Given the description of an element on the screen output the (x, y) to click on. 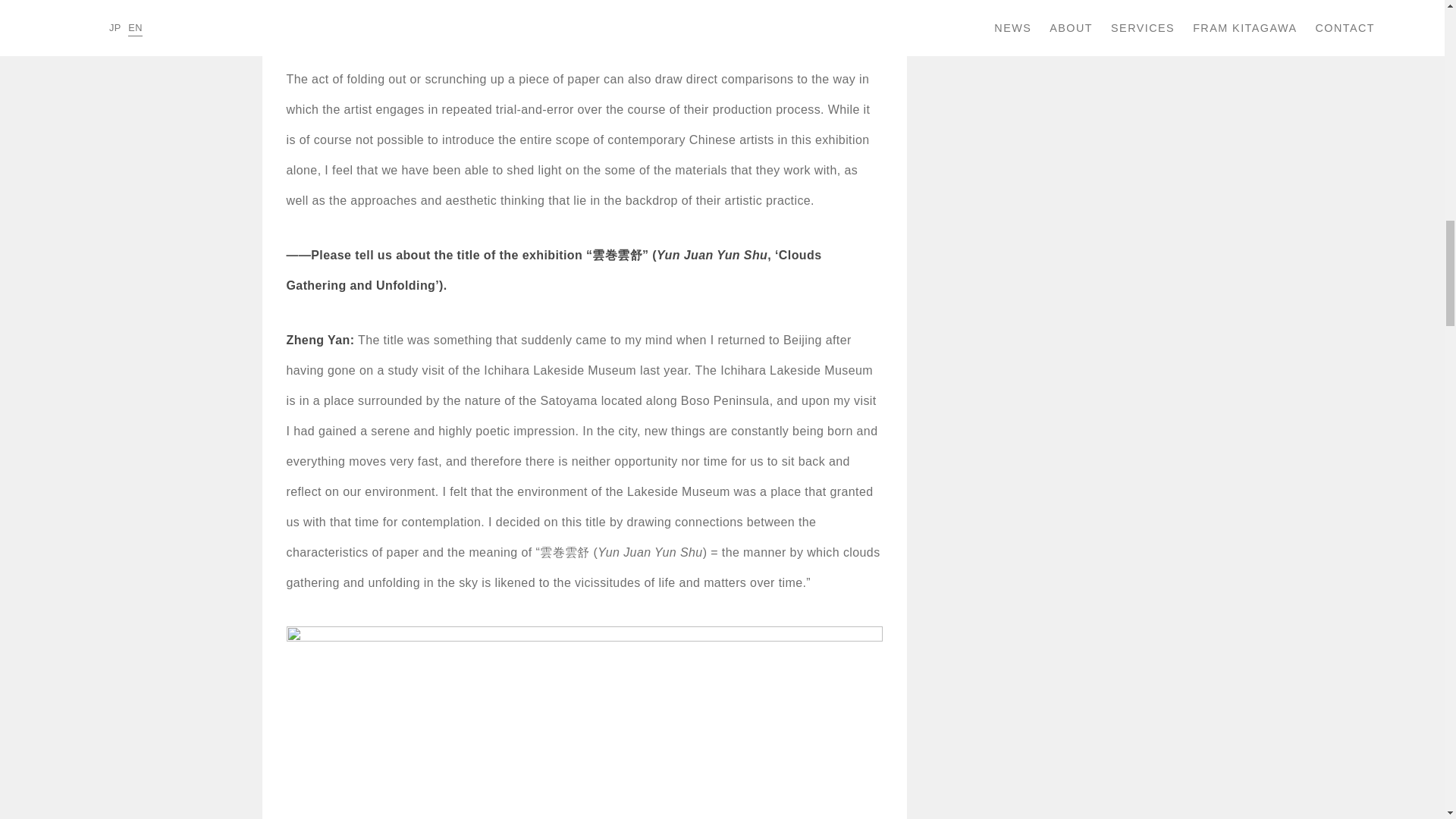
F (584, 720)
